Given the description of an element on the screen output the (x, y) to click on. 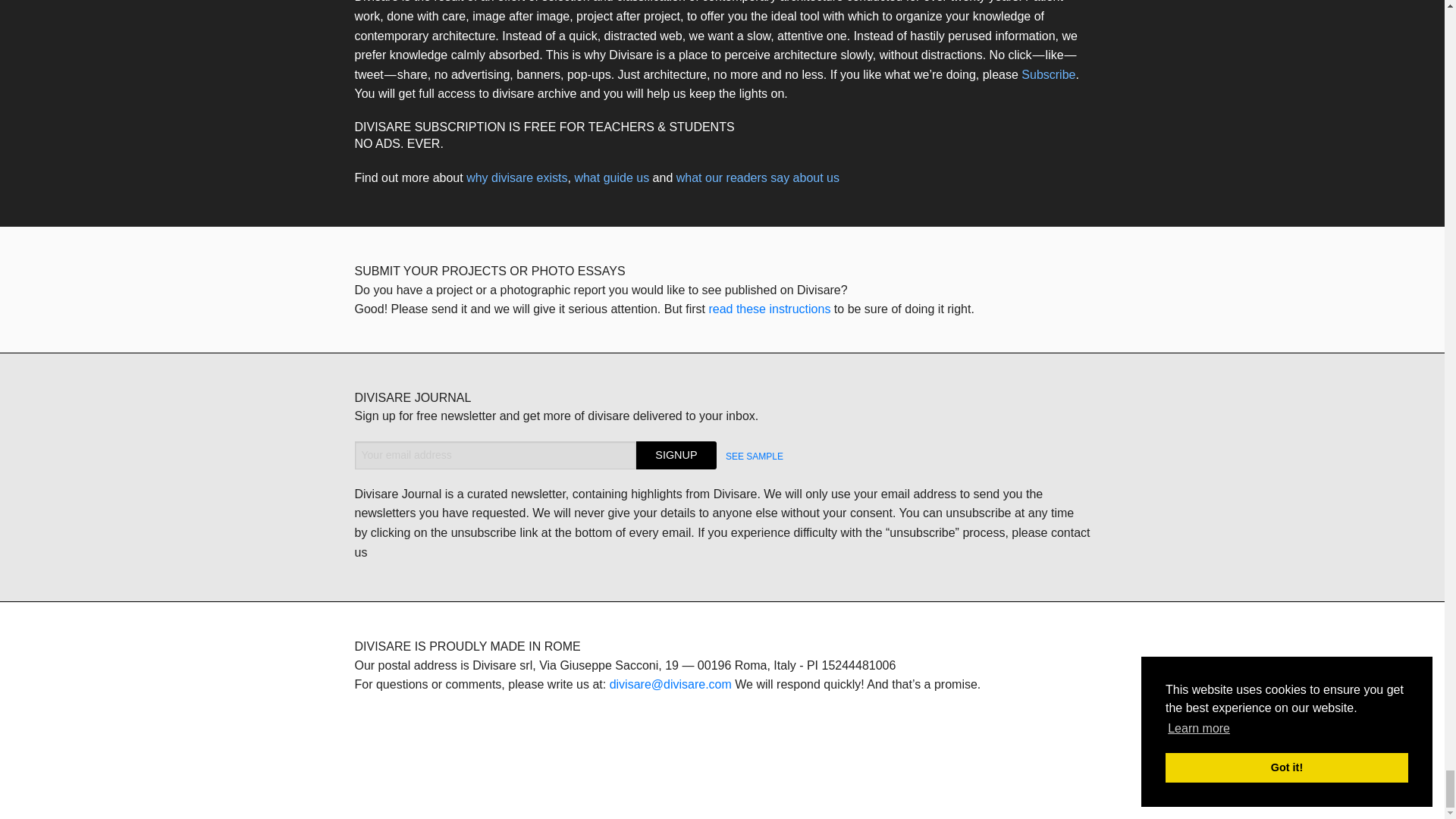
Signup (676, 455)
